Given the description of an element on the screen output the (x, y) to click on. 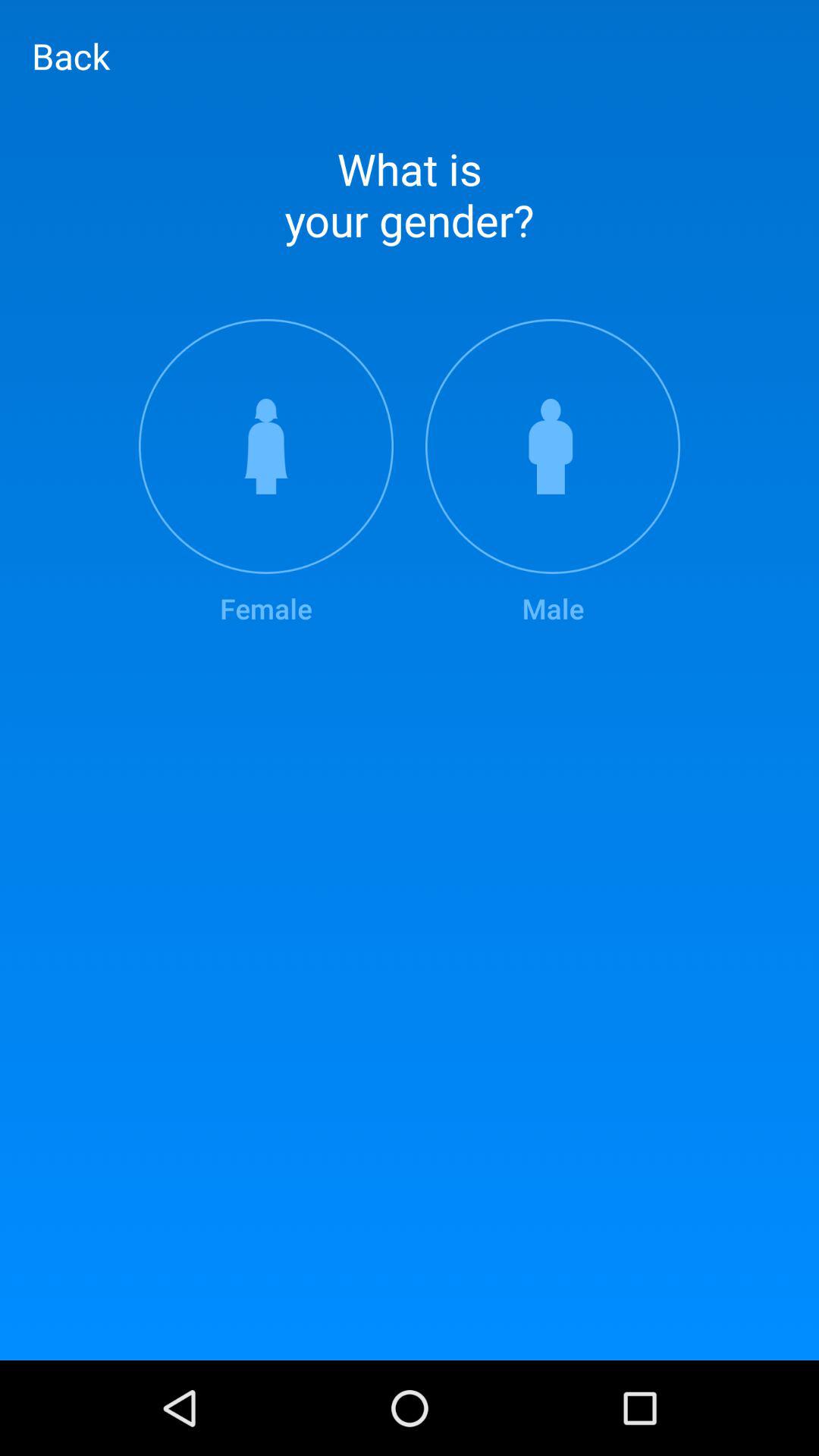
choose the back (70, 55)
